Given the description of an element on the screen output the (x, y) to click on. 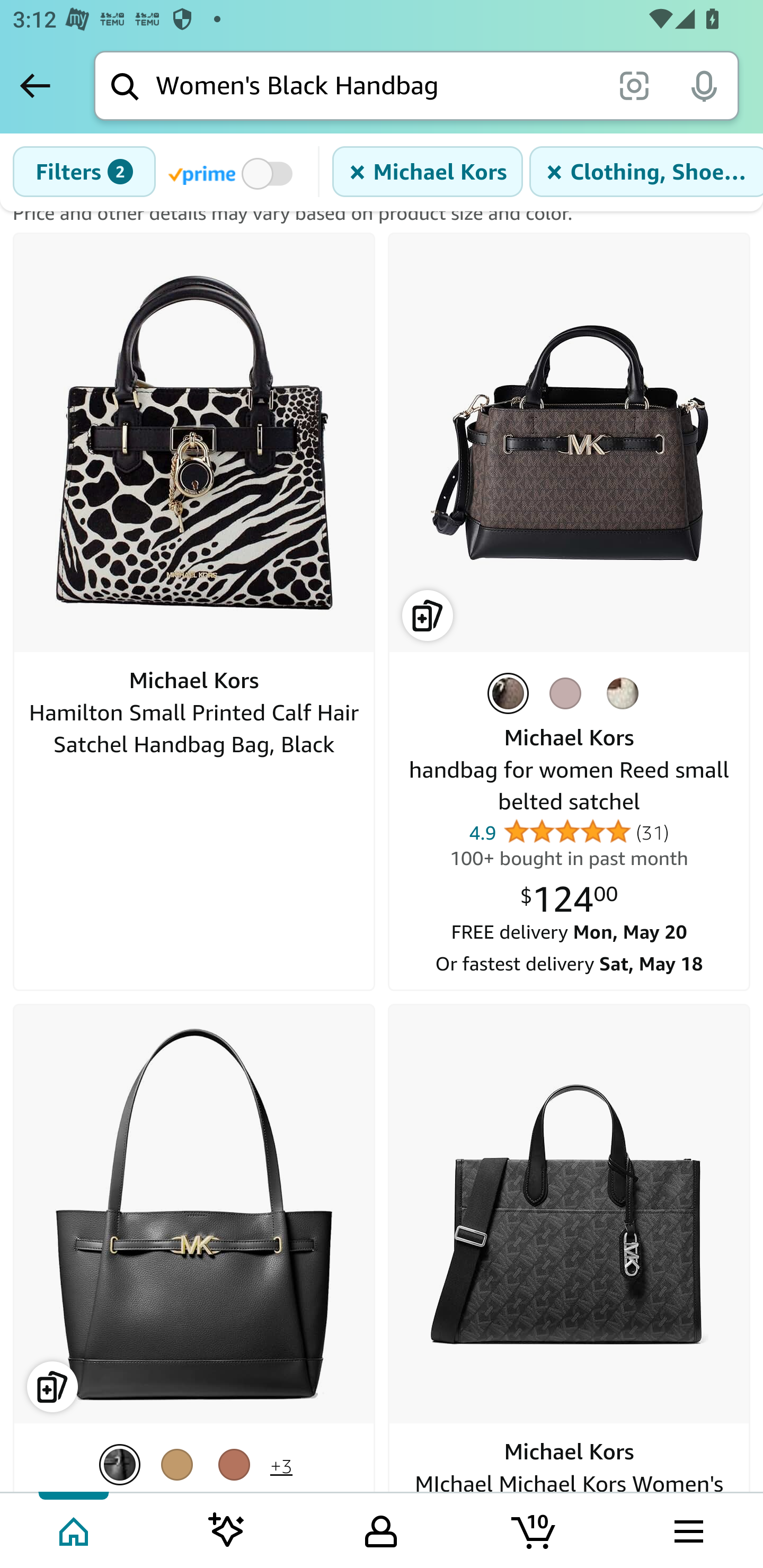
Back (35, 85)
scan it (633, 85)
Filters 2 (83, 171)
Toggle to filter by Prime products Prime Eligible (233, 172)
× Michael Kors × Michael Kors (426, 171)
Brown Black (511, 693)
Powder Blush (568, 693)
Vanilla (625, 693)
Black (122, 1463)
Camel (180, 1463)
Luggage (237, 1463)
+3 (280, 1465)
Home Tab 1 of 5 (75, 1529)
Inspire feed Tab 2 of 5 (227, 1529)
Your Amazon.com Tab 3 of 5 (380, 1529)
Cart 10 items Tab 4 of 5 10 (534, 1529)
Browse menu Tab 5 of 5 (687, 1529)
